Given the description of an element on the screen output the (x, y) to click on. 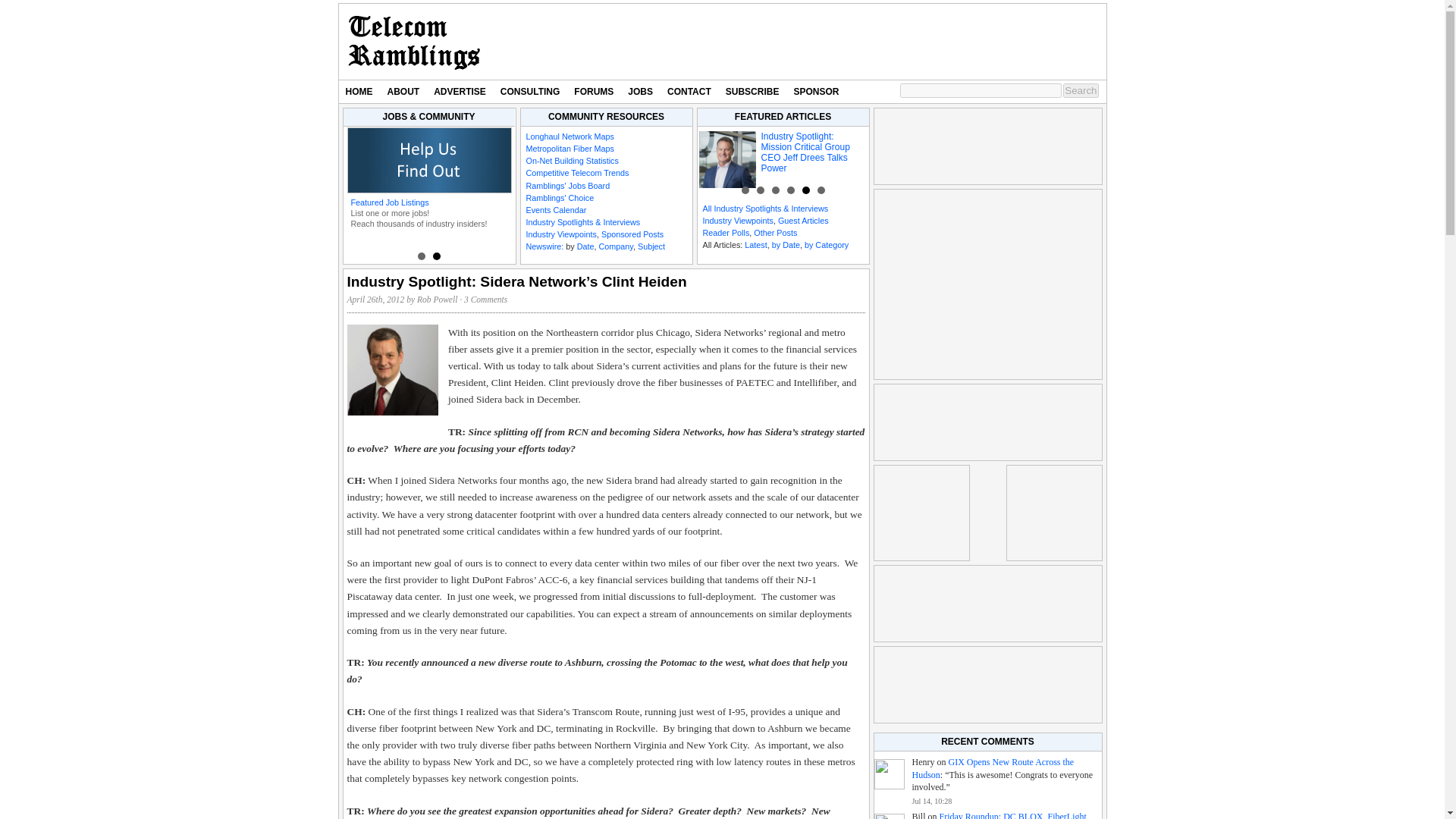
SUBSCRIBE (752, 91)
Search (1079, 90)
Competitive Telecom Trends (576, 172)
3rd party ad content (826, 41)
Featured Job Listings (389, 202)
HOME (357, 91)
Sponsored Posts (632, 234)
Subject (651, 245)
Metropolitan Fiber Maps (569, 148)
3rd party ad content (986, 284)
Posts by Rob Powell (436, 298)
Industry Viewpoints (560, 234)
Company (615, 245)
heiden-sidera (392, 369)
Telecom Ramblings (413, 41)
